Given the description of an element on the screen output the (x, y) to click on. 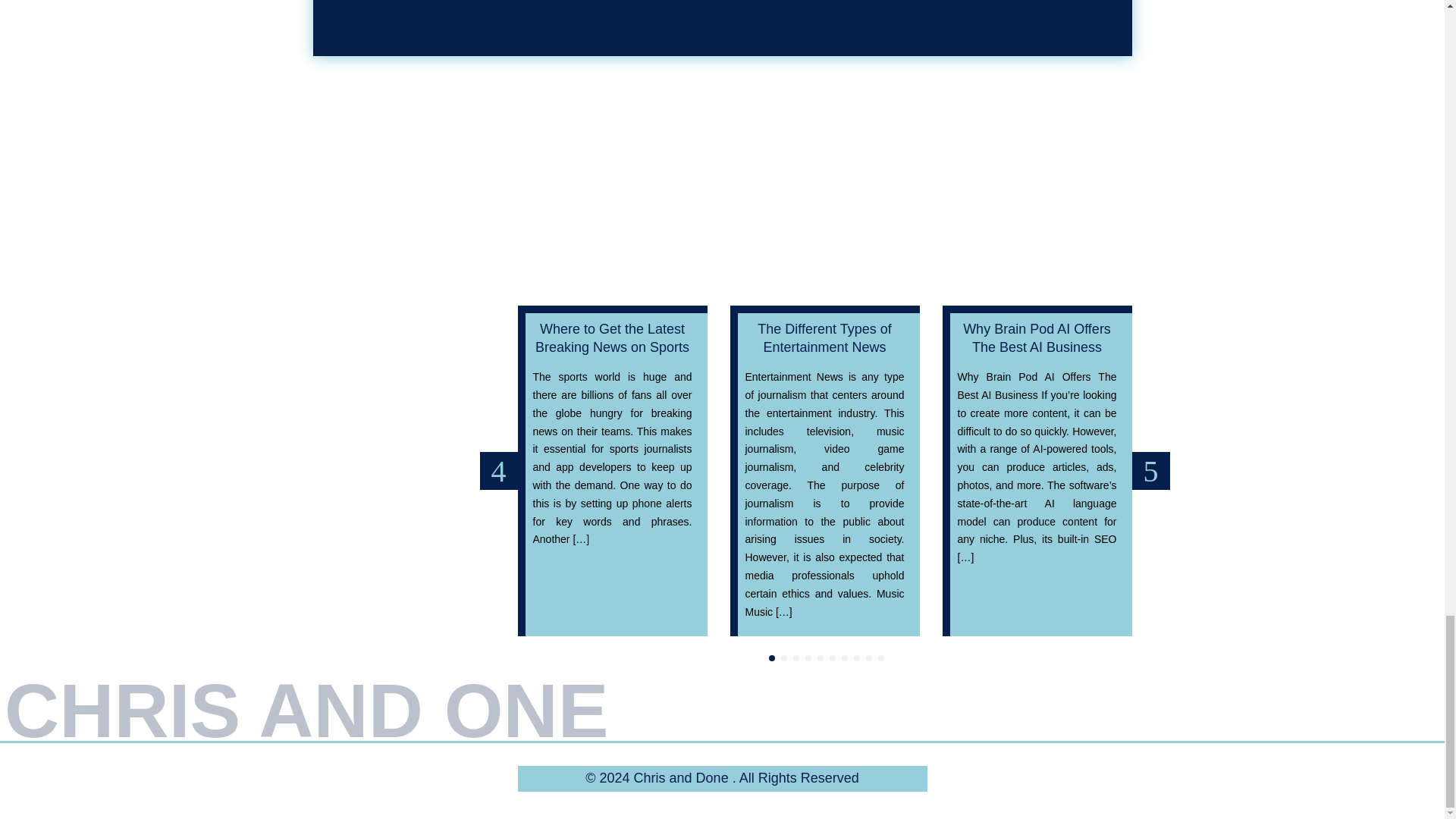
The Different Types of Entertainment News (824, 337)
Where to Get the Latest Breaking News on Sports (611, 337)
Why Brain Pod AI Offers The Best AI Business (1036, 337)
Why Brain Pod AI Offers The Best AI Business (1036, 337)
Where to Get the Latest Breaking News on Sports (611, 337)
The Different Types of Entertainment News (824, 337)
